Given the description of an element on the screen output the (x, y) to click on. 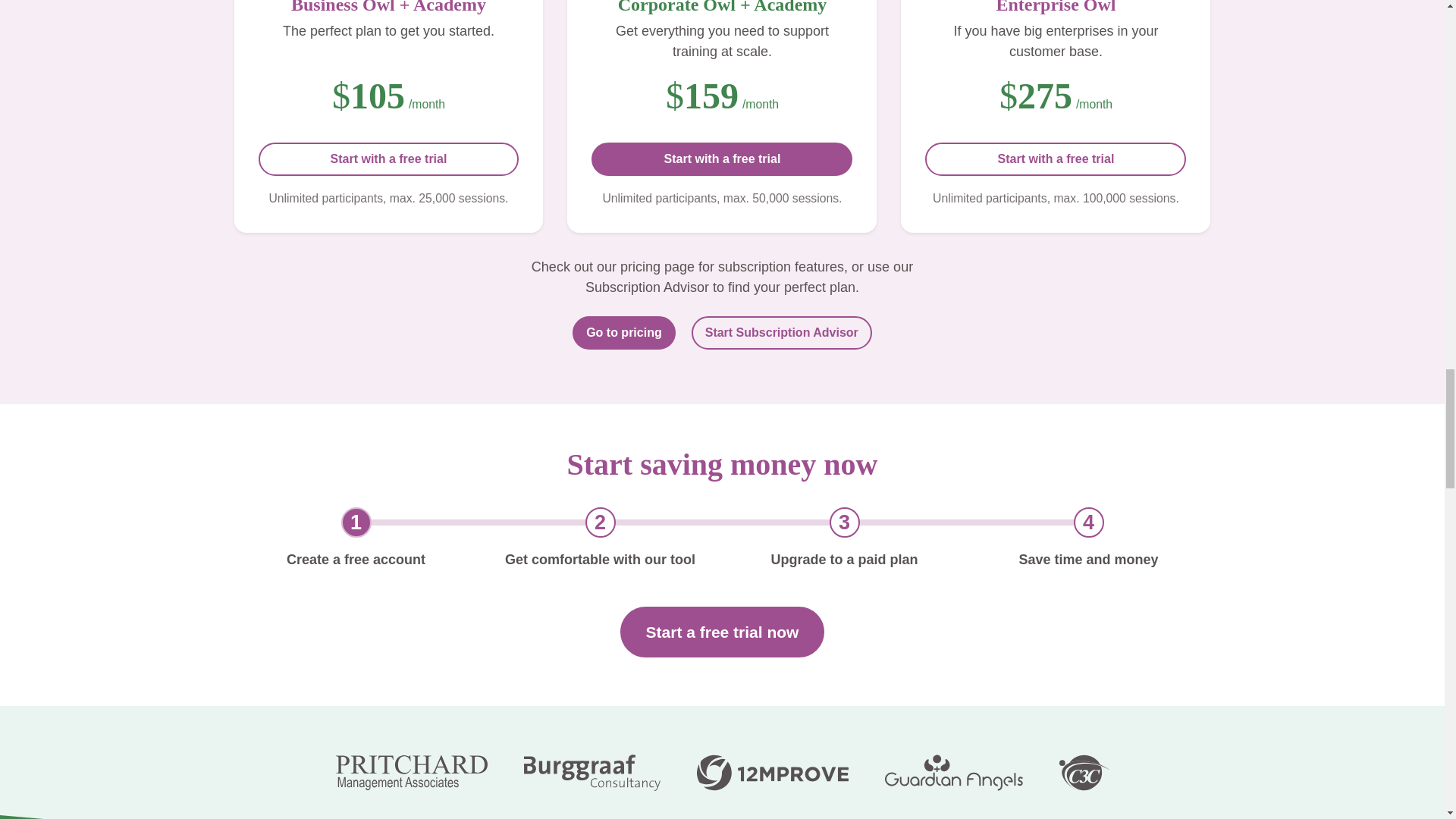
Chapter Three Consulting (1083, 772)
Start with a free trial (387, 159)
Go to pricing (623, 332)
Start with a free trial (721, 159)
Start a free trial now (722, 632)
Start with a free trial (1055, 159)
Guardian Angels Training (952, 772)
Pritchard Management Associates (410, 772)
12mprove (771, 772)
Start Subscription Advisor (781, 332)
Burggraaf Consultancy (590, 772)
